Given the description of an element on the screen output the (x, y) to click on. 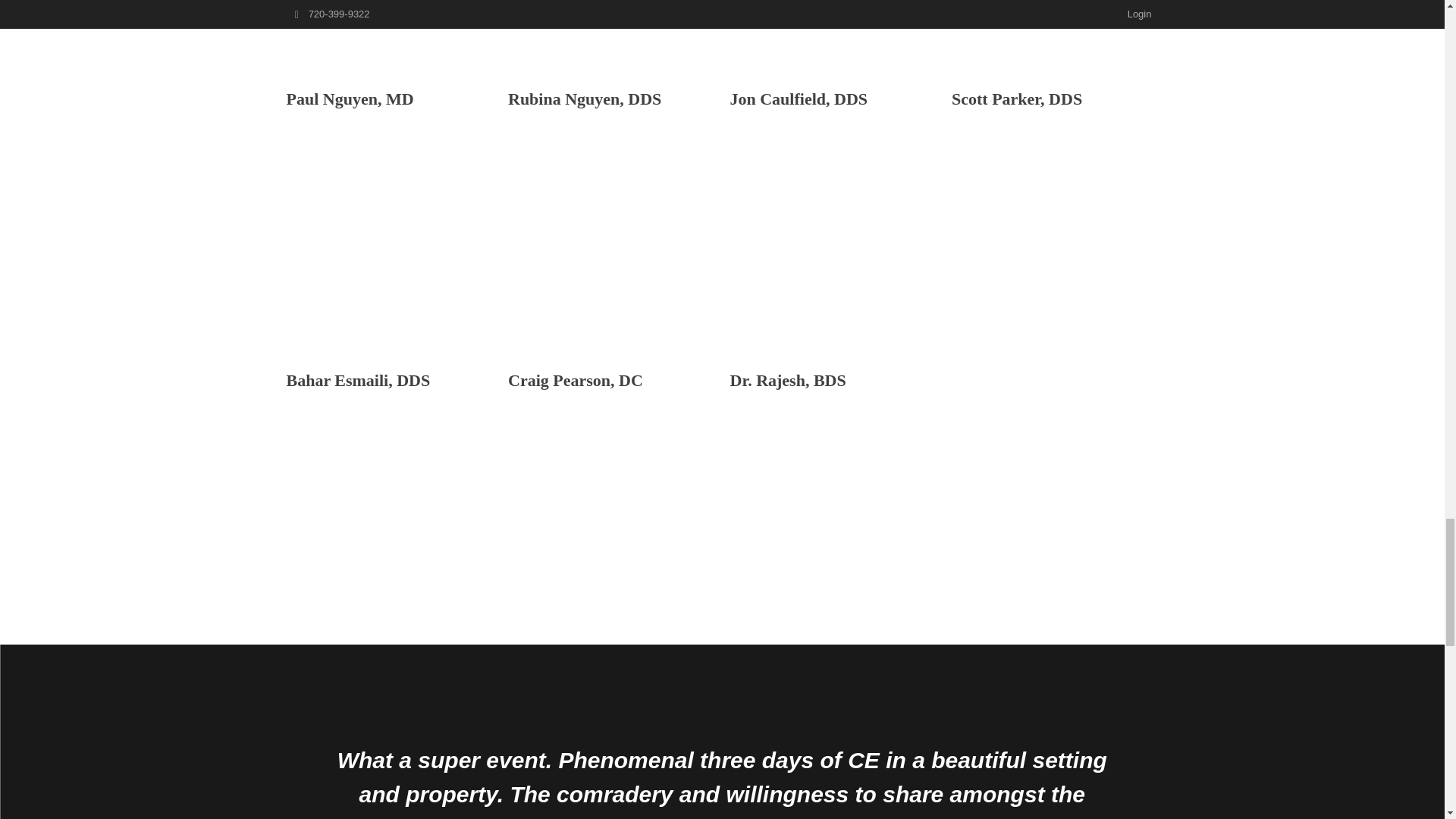
Breathing Wellness Conference 2023 (832, 25)
Breathing Wellness Conference 2023 (611, 25)
Breathing Wellness Conference 2023 (389, 25)
